Given the description of an element on the screen output the (x, y) to click on. 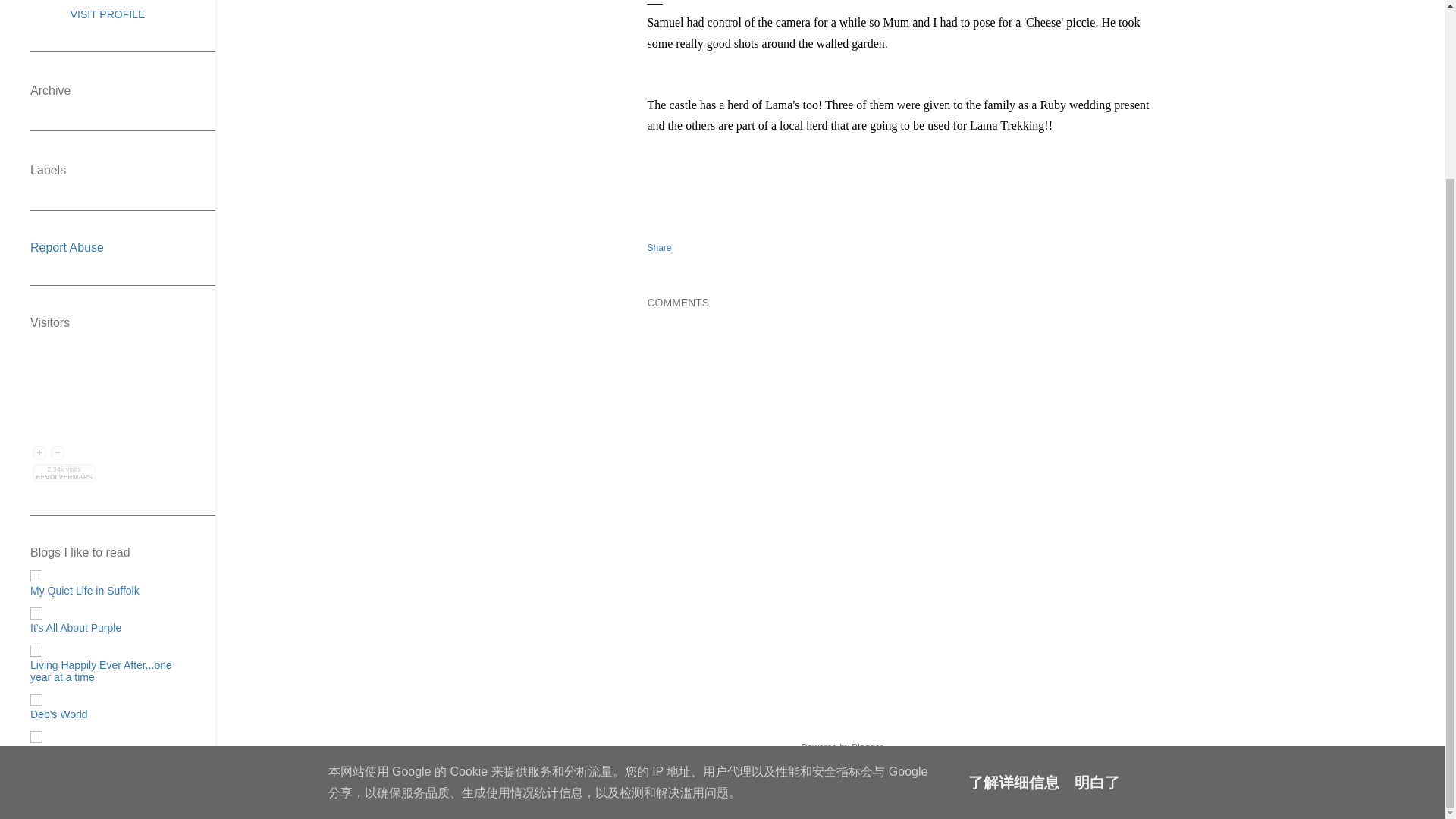
konradlew (866, 775)
Share (659, 247)
VISIT PROFILE (107, 14)
